Given the description of an element on the screen output the (x, y) to click on. 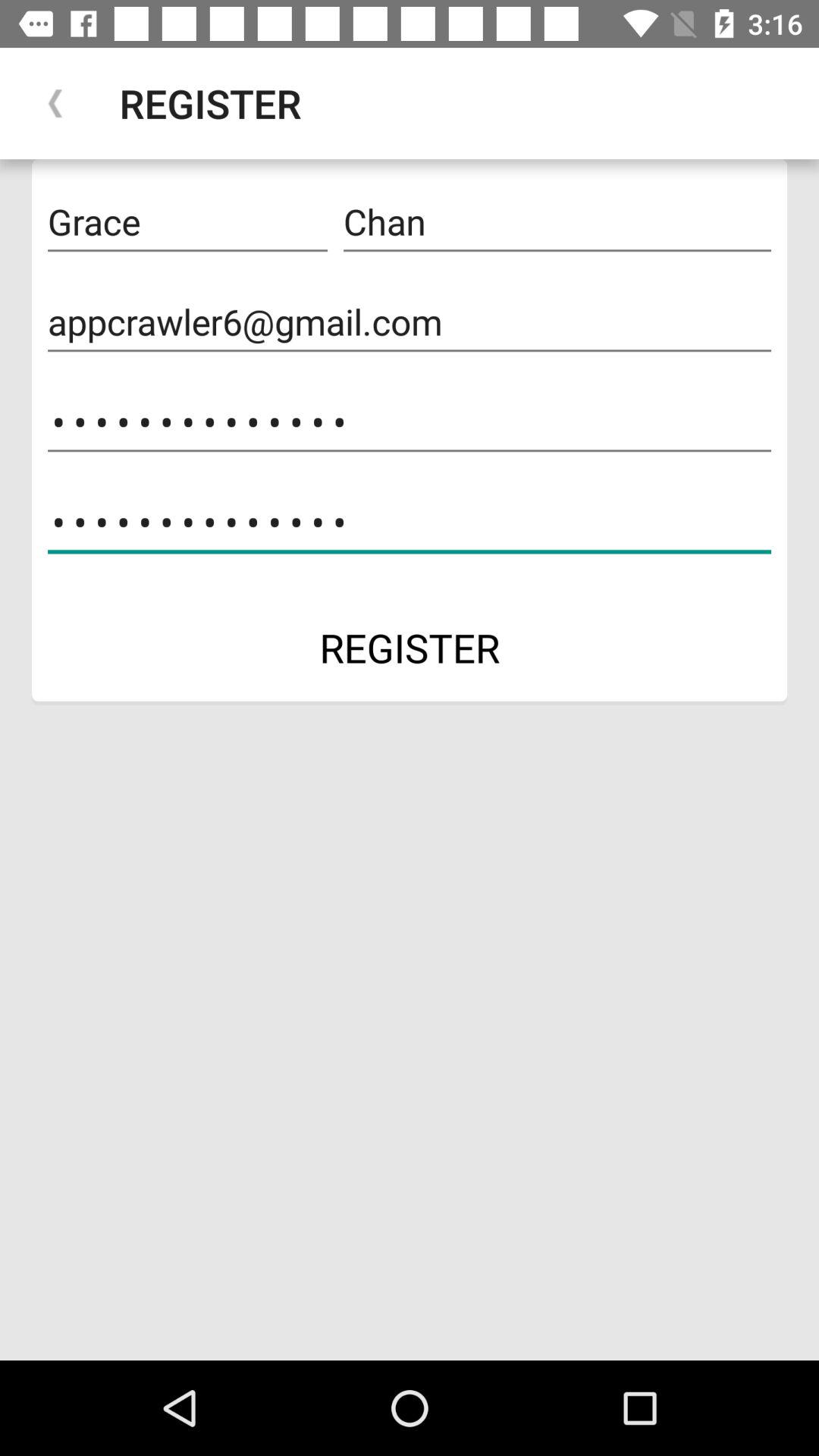
press the icon next to the register icon (55, 103)
